Given the description of an element on the screen output the (x, y) to click on. 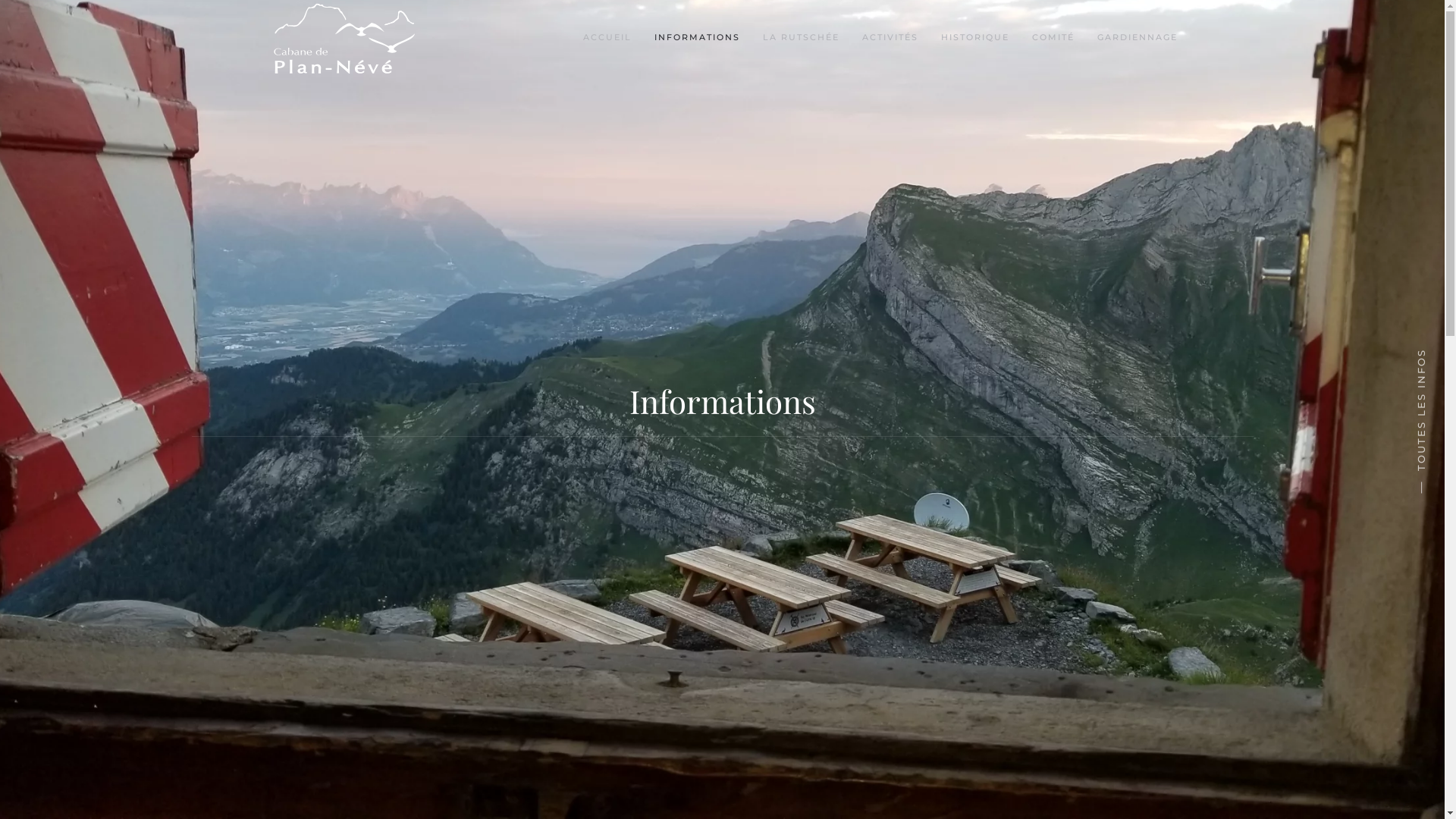
HISTORIQUE Element type: text (974, 37)
ACCUEIL Element type: text (606, 37)
INFORMATIONS Element type: text (696, 37)
GARDIENNAGE Element type: text (1136, 37)
